Given the description of an element on the screen output the (x, y) to click on. 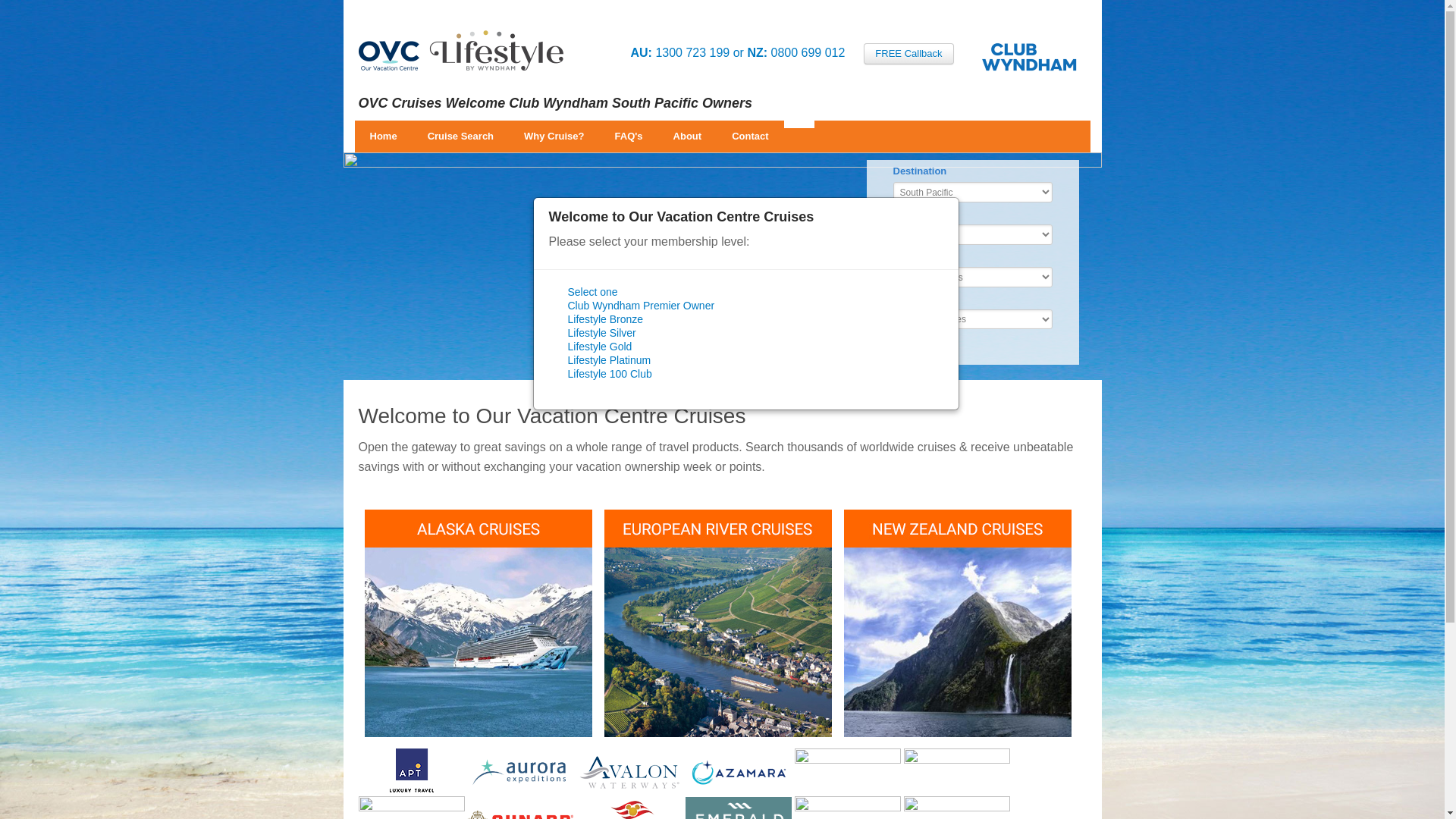
Search Element type: text (925, 343)
Home Element type: text (383, 136)
Lifestyle Silver Element type: text (601, 332)
FAQ's Element type: text (628, 136)
Club Wyndham Premier Owner Element type: text (640, 305)
Why Cruise? Element type: text (553, 136)
Lifestyle Bronze Element type: text (605, 319)
Contact Element type: text (749, 136)
Lifestyle Platinum Element type: text (608, 360)
Lifestyle 100 Club Element type: text (609, 373)
FREE Callback Element type: text (908, 53)
Lifestyle Gold Element type: text (599, 346)
About Element type: text (687, 136)
Cruise Search Element type: text (460, 136)
Select one Element type: text (592, 291)
